Given the description of an element on the screen output the (x, y) to click on. 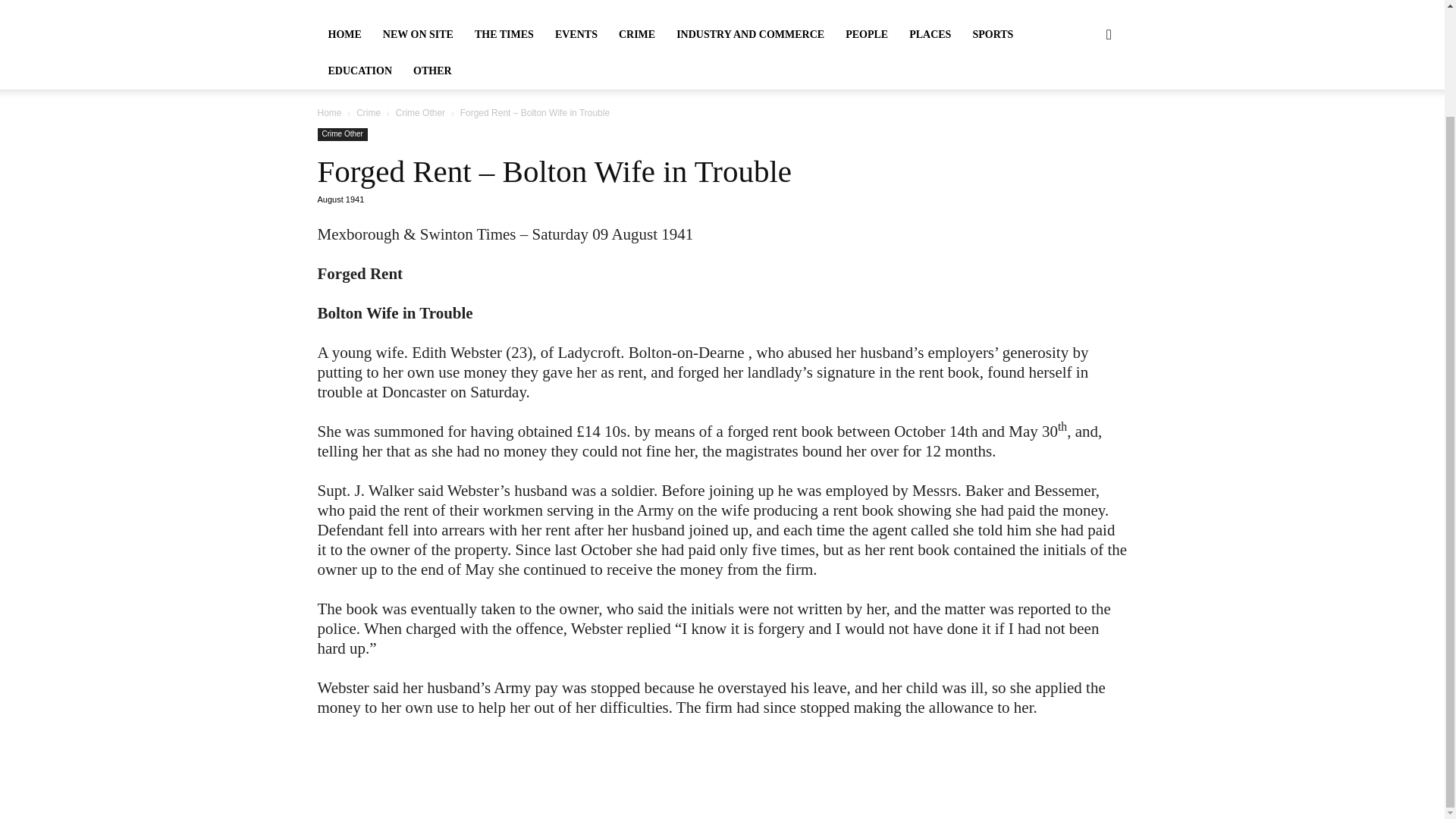
HOME (344, 34)
INDUSTRY AND COMMERCE (749, 34)
CRIME (636, 34)
View all posts in Crime (368, 112)
THE TIMES (504, 34)
NEW ON SITE (418, 34)
View all posts in Crime Other (420, 112)
PLACES (929, 34)
EVENTS (576, 34)
